Given the description of an element on the screen output the (x, y) to click on. 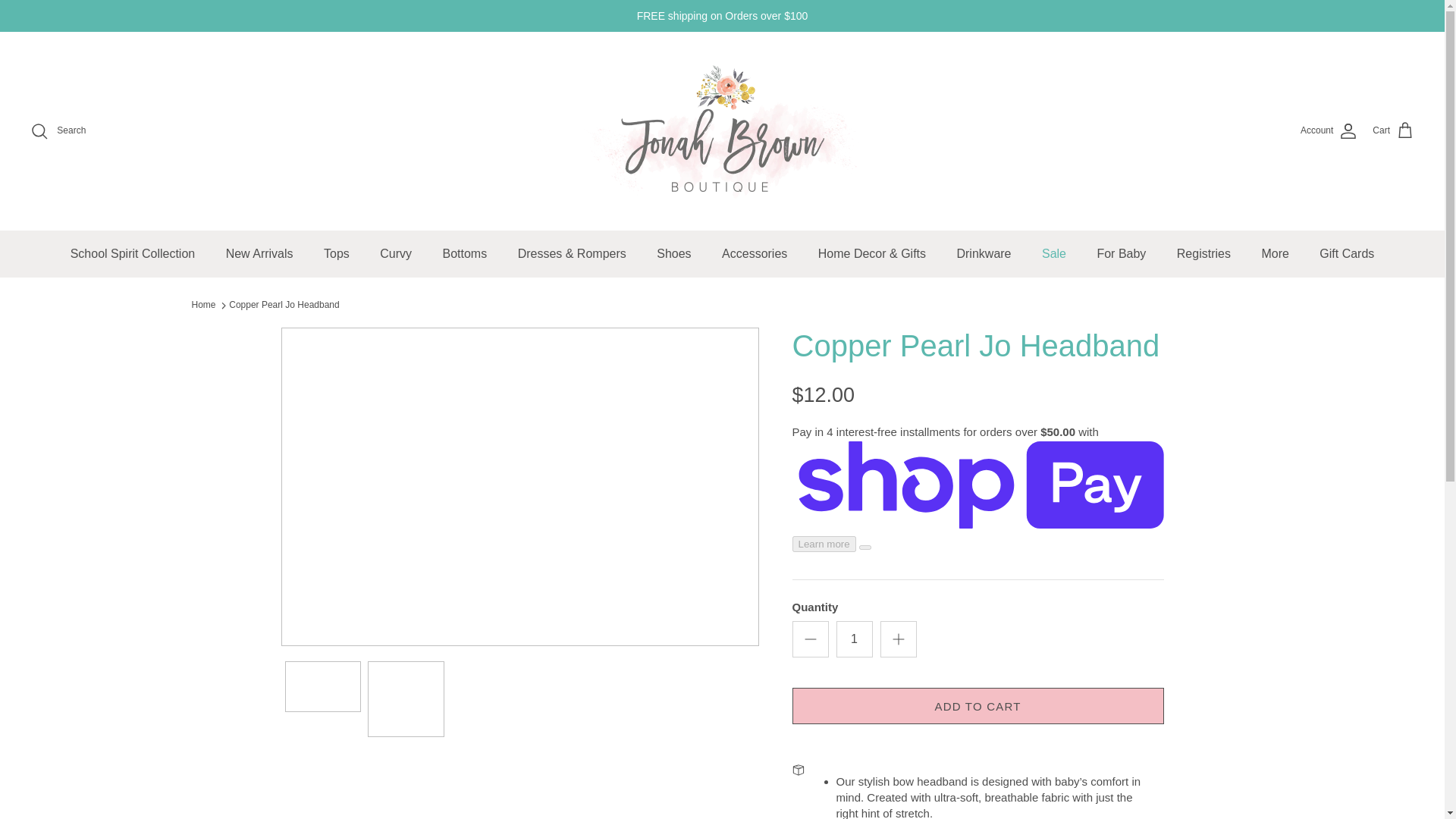
Plus (897, 638)
Account (1328, 131)
School Spirit Collection (132, 253)
Search (57, 131)
New Arrivals (259, 253)
Jonah Brown Boutique (721, 130)
Minus (809, 638)
Tops (336, 253)
Cart (1393, 130)
1 (853, 638)
Bottoms (464, 253)
Curvy (395, 253)
